Given the description of an element on the screen output the (x, y) to click on. 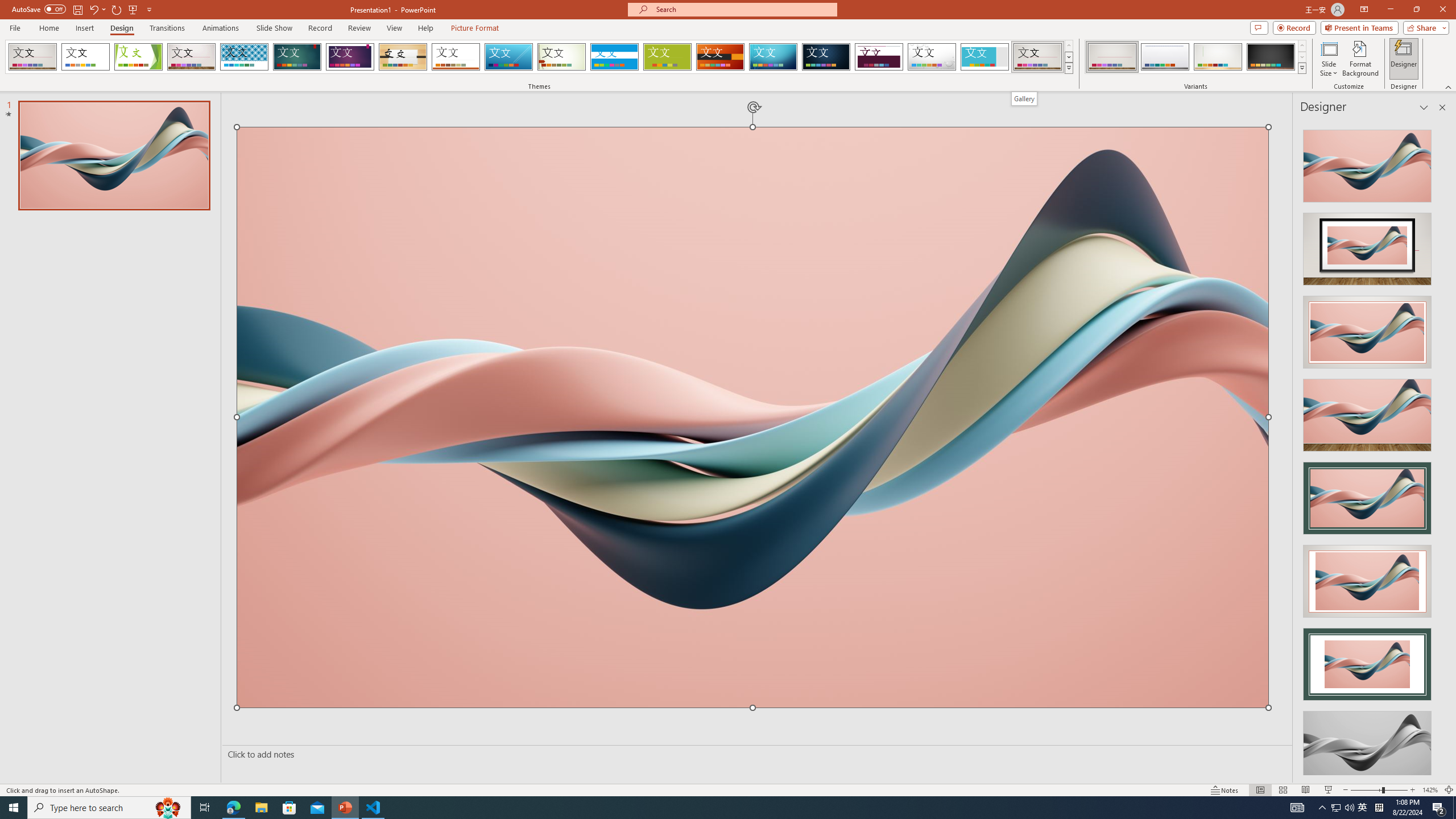
Picture Format (475, 28)
AutomationID: SlideThemesGallery (539, 56)
Droplet (931, 56)
Berlin (720, 56)
Gallery Variant 4 (1270, 56)
